Given the description of an element on the screen output the (x, y) to click on. 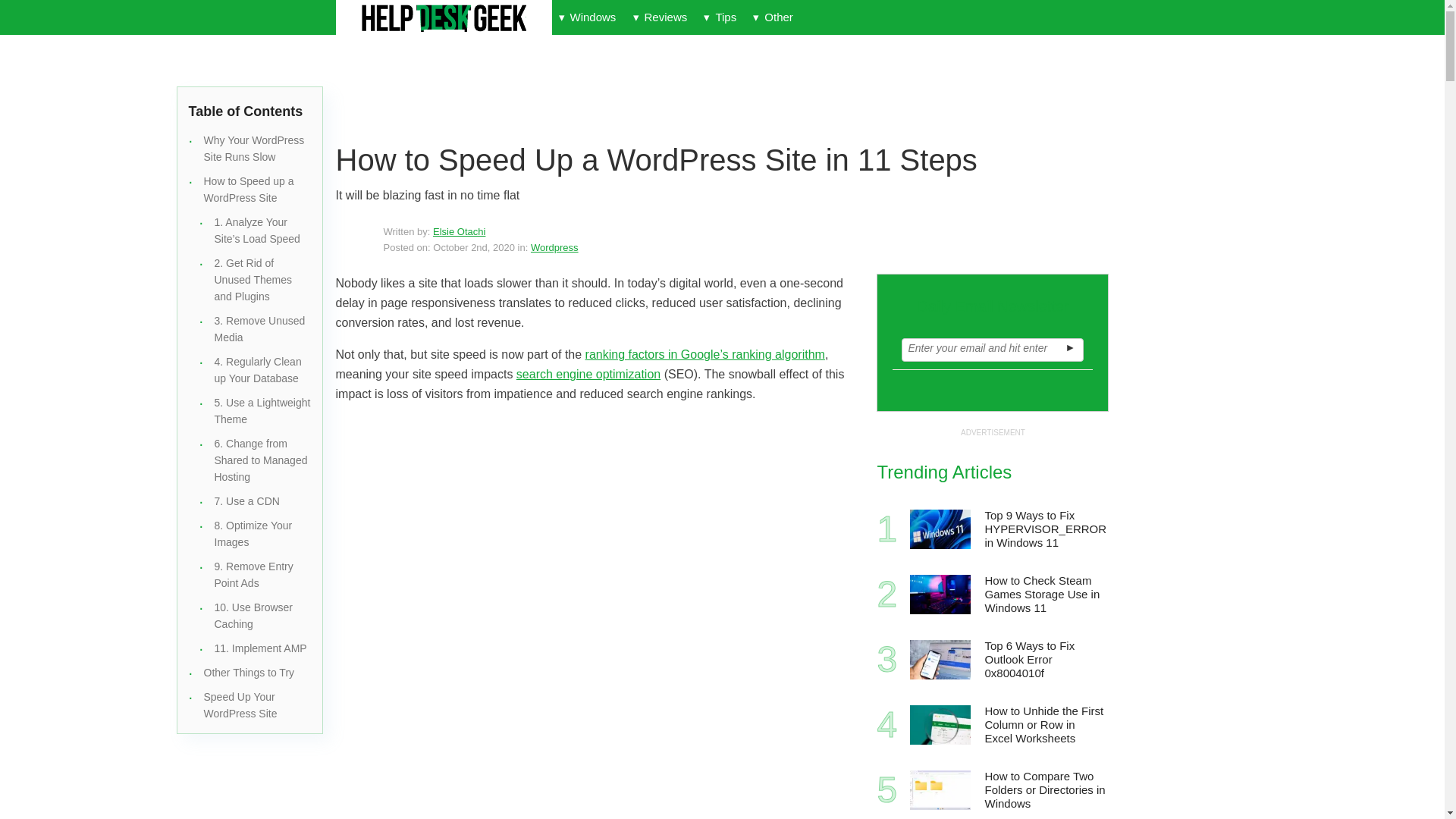
Search (1061, 17)
Friday, October 2, 2020, 6:00 pm (473, 247)
How to Check Steam Games Storage Use in Windows 11 (1044, 594)
Help Desk Geek (443, 17)
How to Compare Two Folders or Directories in Windows (940, 789)
Top 6 Ways to Fix Outlook Error 0x8004010f (1044, 659)
How to Compare Two Folders or Directories in Windows (1044, 790)
Help Desk Geek (443, 17)
How to Unhide the First Column or Row in Excel Worksheets (1044, 724)
Secondary Menu (1091, 17)
Reviews (660, 17)
Other (772, 17)
Windows (587, 17)
Top 6 Ways to Fix Outlook Error 0x8004010f (940, 659)
How to Unhide the First Column or Row in Excel Worksheets (940, 724)
